Given the description of an element on the screen output the (x, y) to click on. 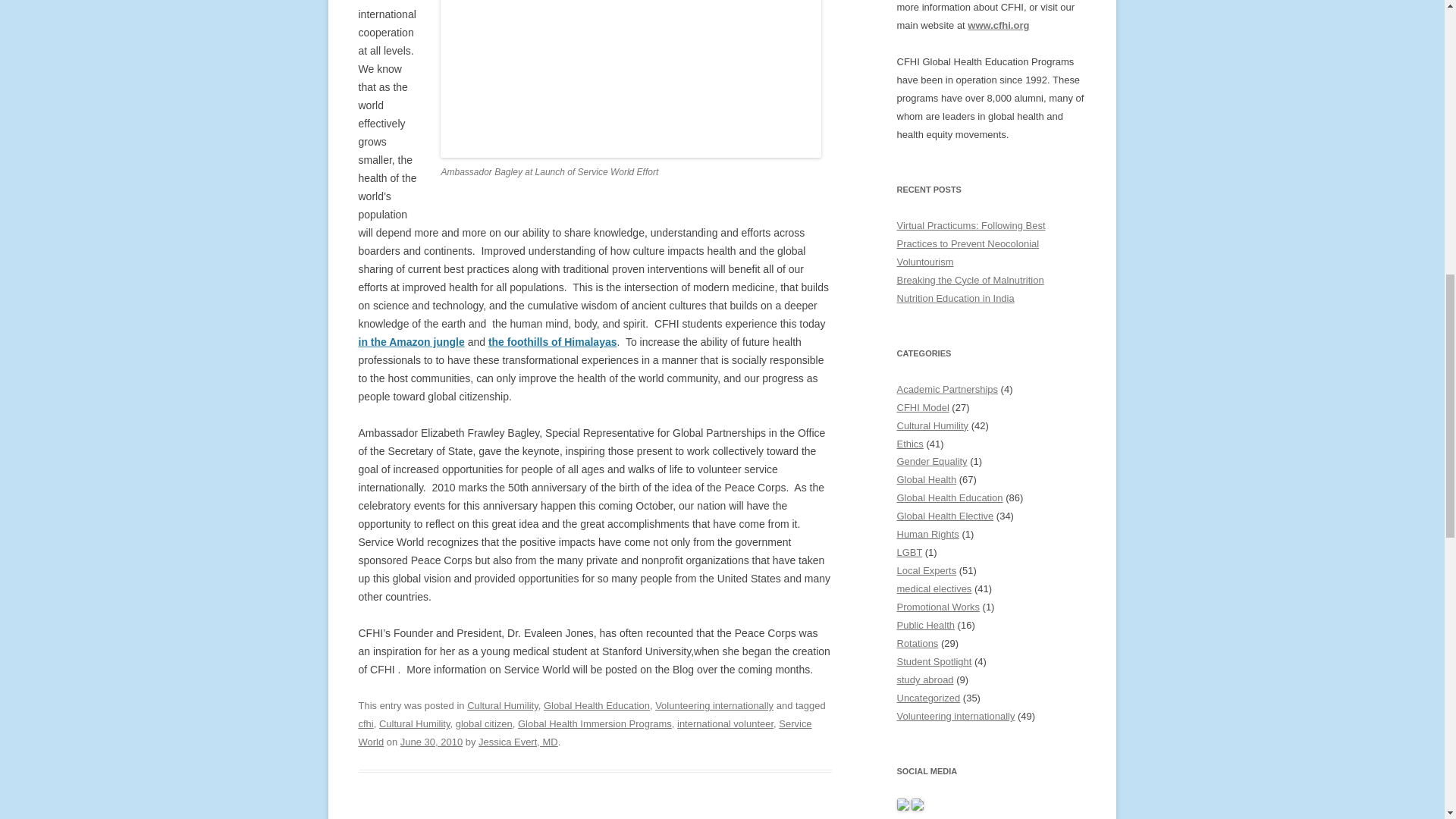
Gender Equality (931, 460)
Academic Partnerships (946, 389)
Cultural Humility (502, 705)
Global Health Education (596, 705)
Ethics (909, 443)
Cultural Humility (932, 425)
Service World (584, 732)
Volunteering internationally (714, 705)
cfhi (365, 723)
